Given the description of an element on the screen output the (x, y) to click on. 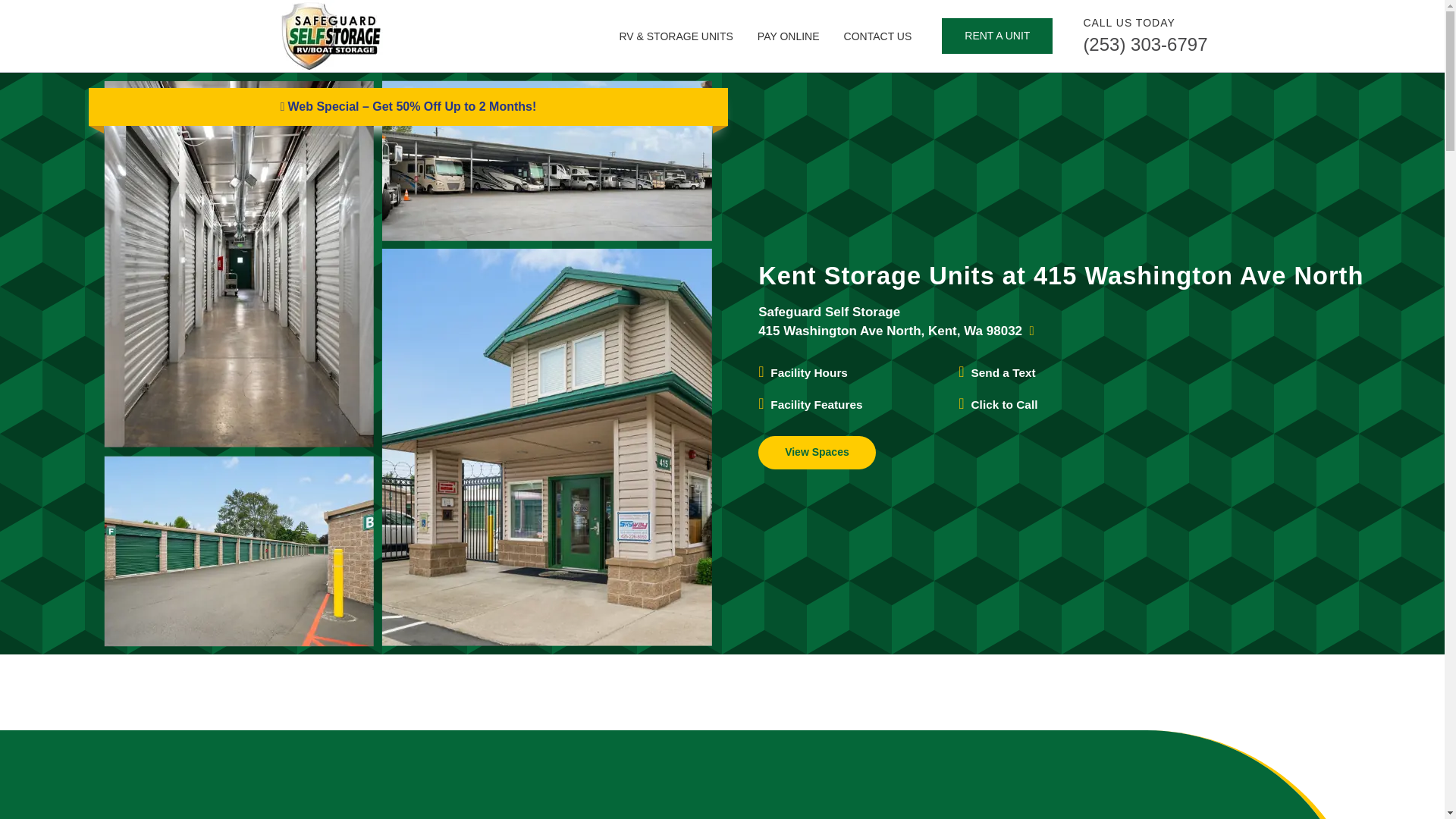
RENT A UNIT (997, 36)
Facility Hours (808, 372)
Send a Text (1003, 372)
Facility Features (815, 404)
415 Washington Ave North, Kent, Wa 98032   (895, 330)
View Spaces (817, 452)
Click to Call (1004, 404)
CONTACT US (878, 36)
